Given the description of an element on the screen output the (x, y) to click on. 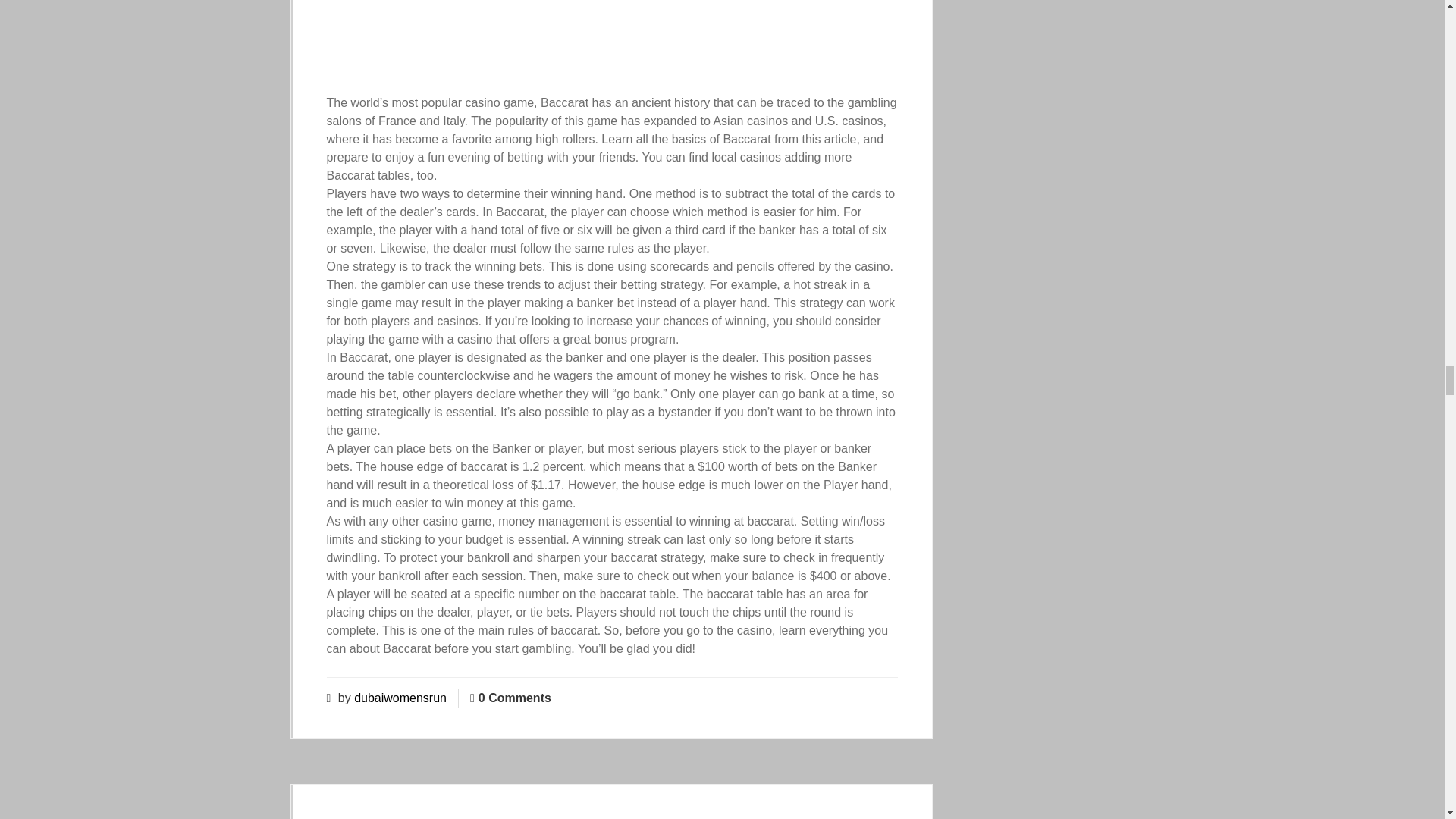
dubaiwomensrun (399, 697)
